Given the description of an element on the screen output the (x, y) to click on. 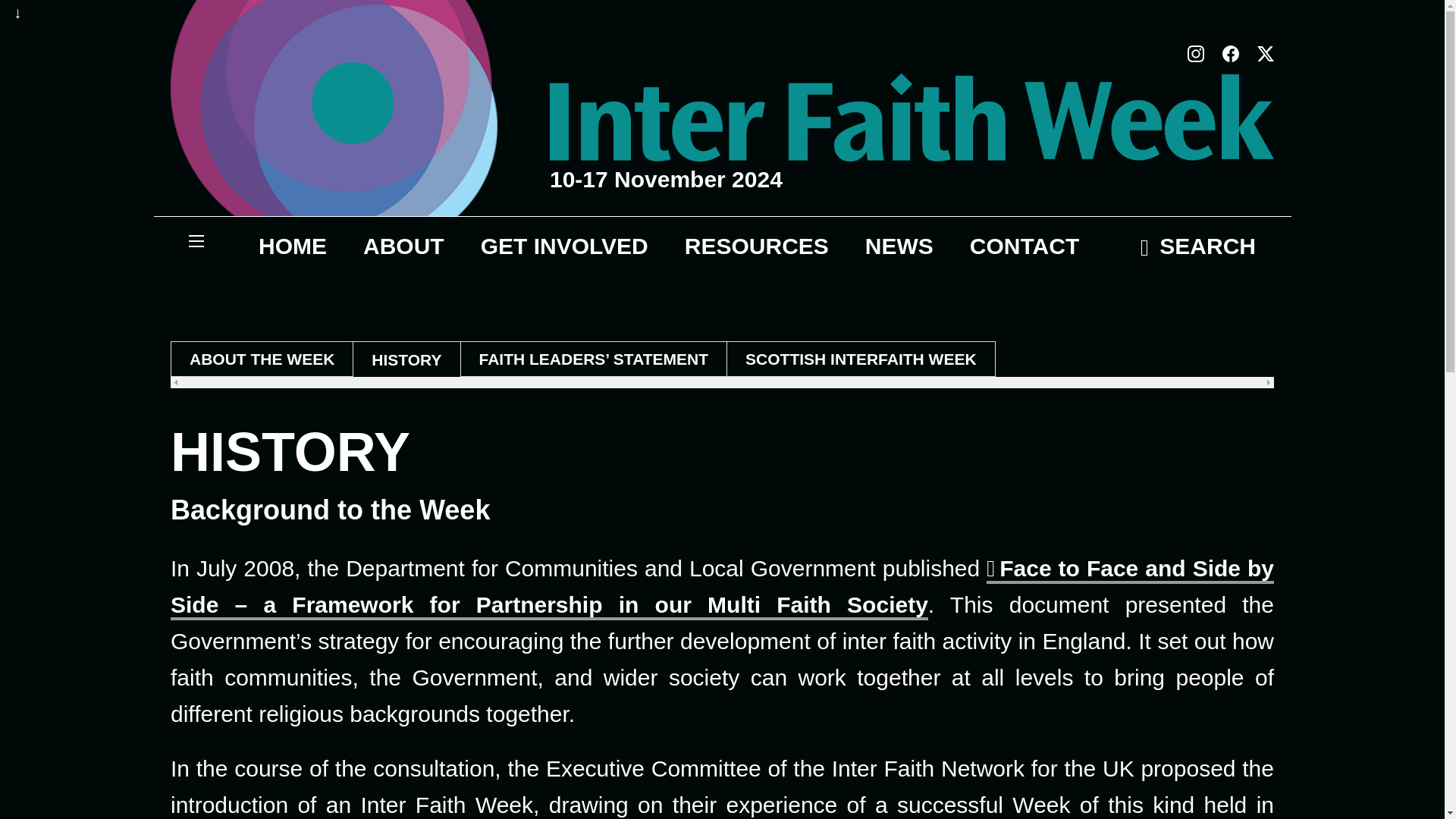
Skip to content (17, 12)
SCOTTISH INTERFAITH WEEK (860, 358)
RESOURCES (756, 246)
GET INVOLVED (564, 246)
CONTACT (1024, 246)
HOME (292, 246)
SEARCH (1198, 247)
ABOUT THE WEEK (261, 358)
HISTORY (406, 359)
NEWS (899, 246)
